Given the description of an element on the screen output the (x, y) to click on. 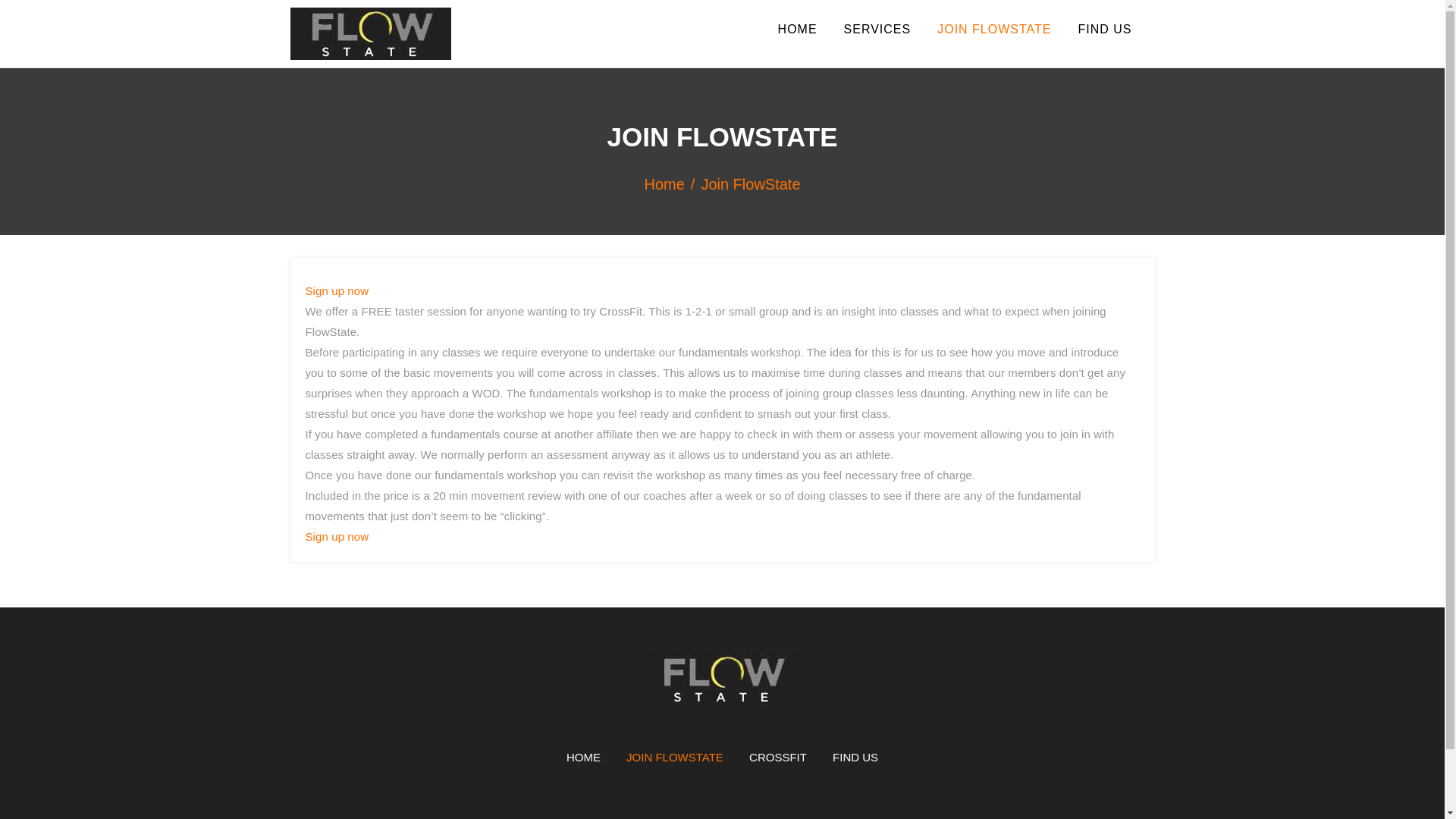
CROSSFIT (777, 757)
Sign up now (336, 290)
JOIN FLOWSTATE (994, 40)
Sign up now (336, 535)
HOME (797, 40)
FLOWSTATE (381, 81)
FIND US (854, 757)
HOME (582, 757)
FIND US (1103, 40)
SERVICES (877, 40)
Home (671, 184)
JOIN FLOWSTATE (674, 757)
